Given the description of an element on the screen output the (x, y) to click on. 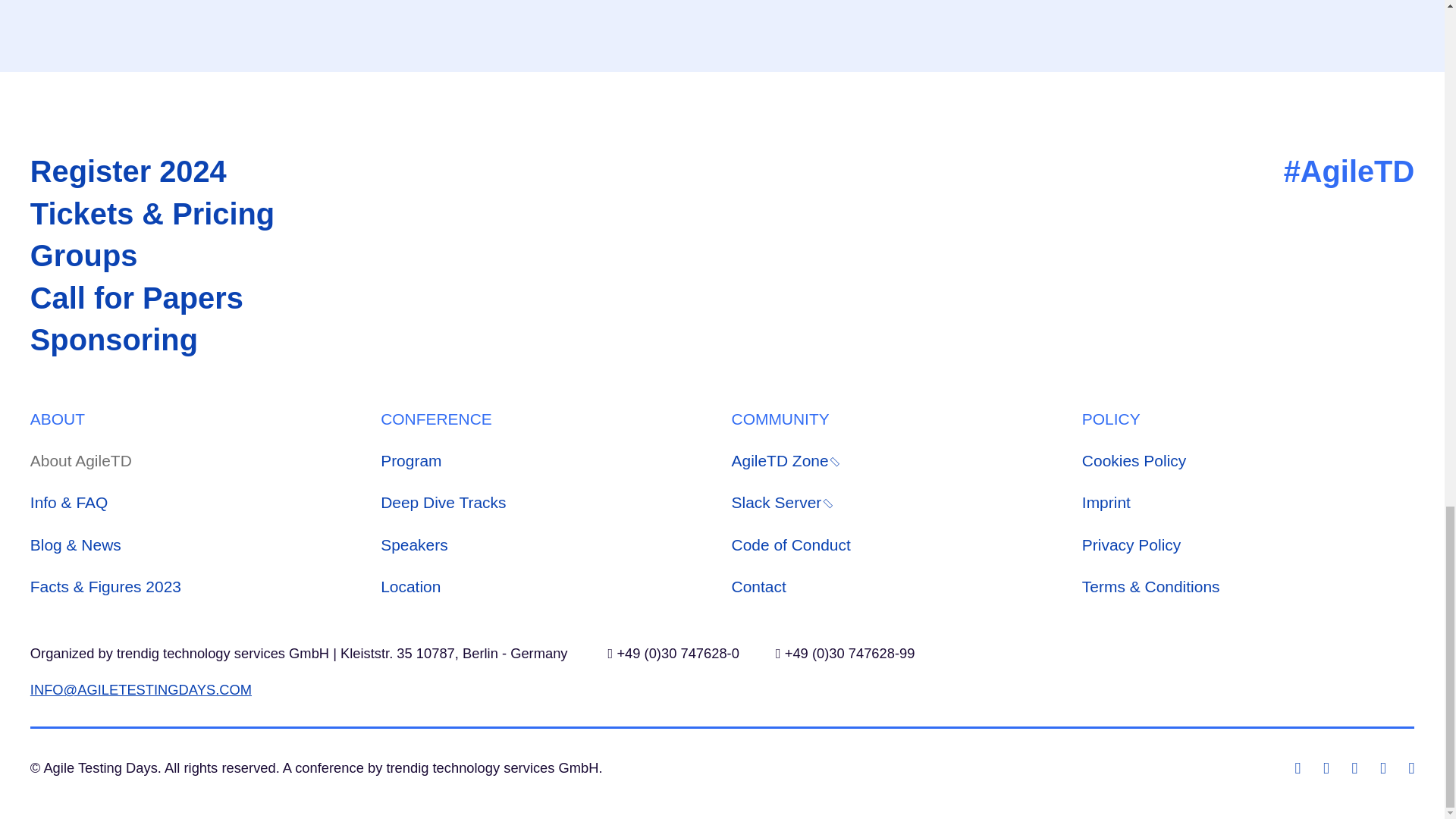
Groups (152, 255)
About AgileTD (196, 460)
Deep Dive Tracks (546, 502)
Program (546, 460)
Location (546, 586)
Contact (896, 586)
Sponsoring (152, 339)
Register 2024 (152, 171)
Code of Conduct (896, 544)
